Given the description of an element on the screen output the (x, y) to click on. 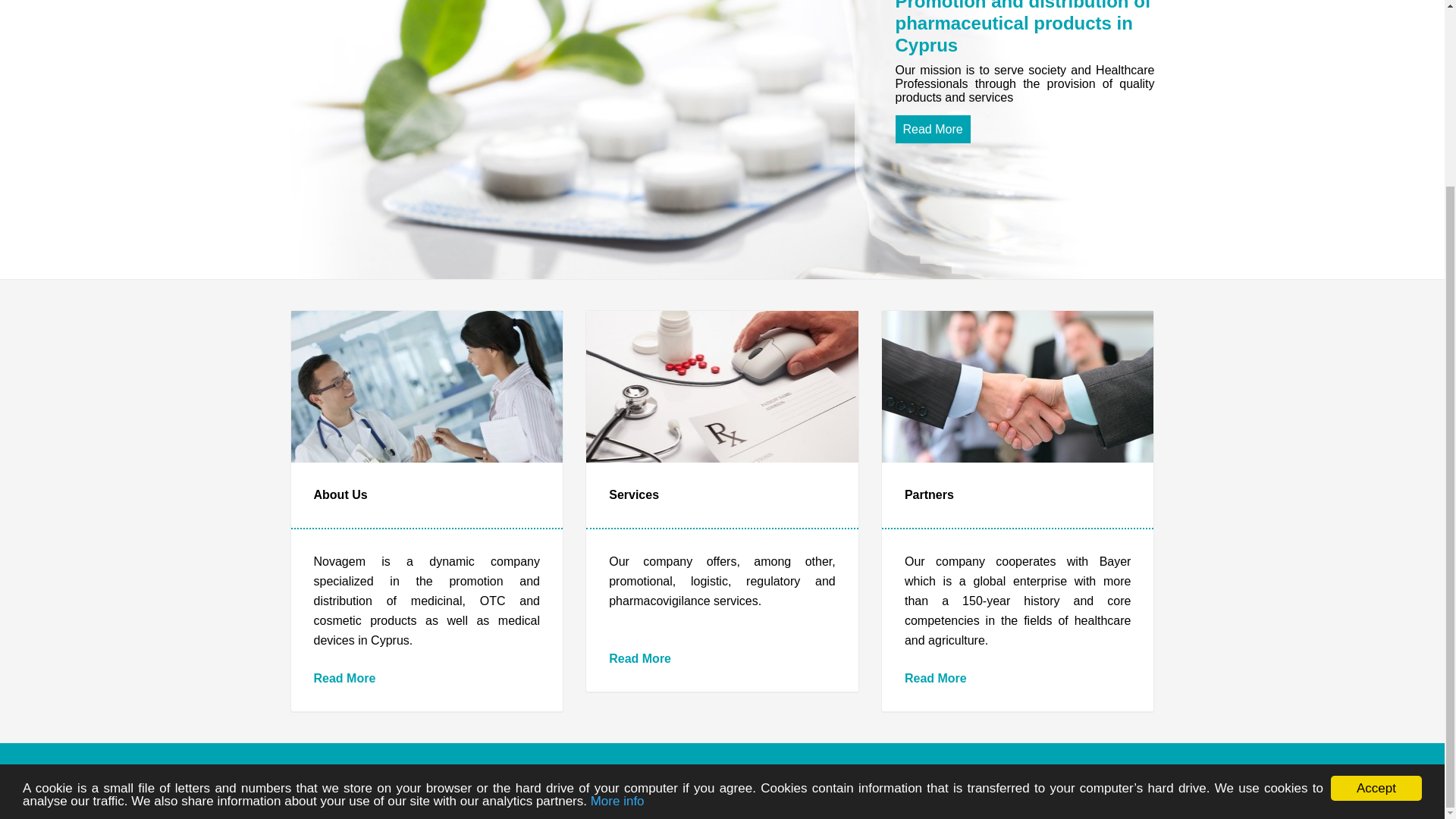
About the company (639, 658)
Read More (344, 677)
Read More (935, 677)
Read More (932, 129)
Partners (935, 677)
About the company (344, 677)
About the company (932, 129)
PRIVACY POLICY (496, 779)
Read More (639, 658)
TERMS AND CONDITIONS (614, 779)
